Given the description of an element on the screen output the (x, y) to click on. 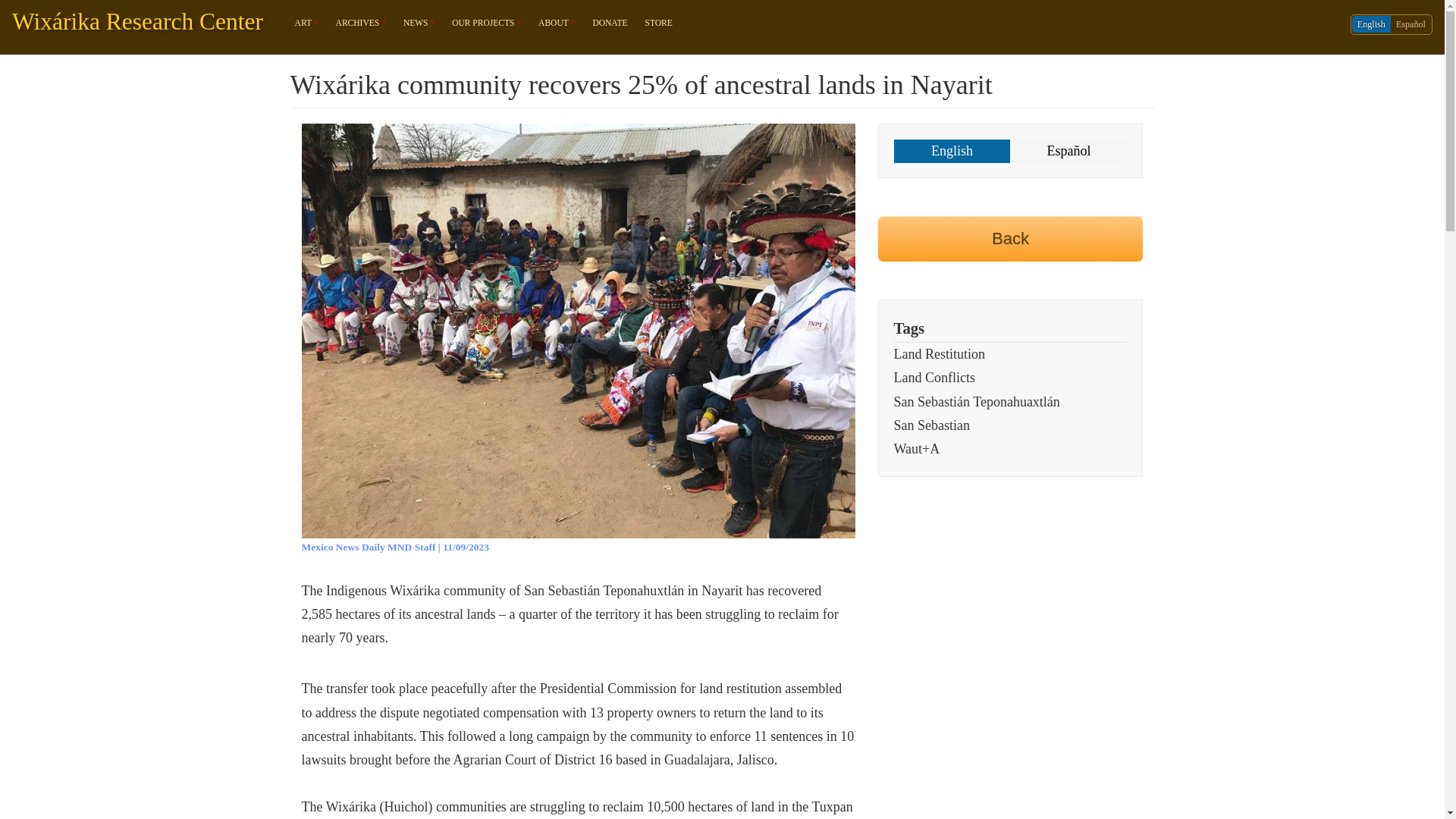
Drupal Commerce based, Drupal powered... (556, 22)
Home (143, 21)
